Given the description of an element on the screen output the (x, y) to click on. 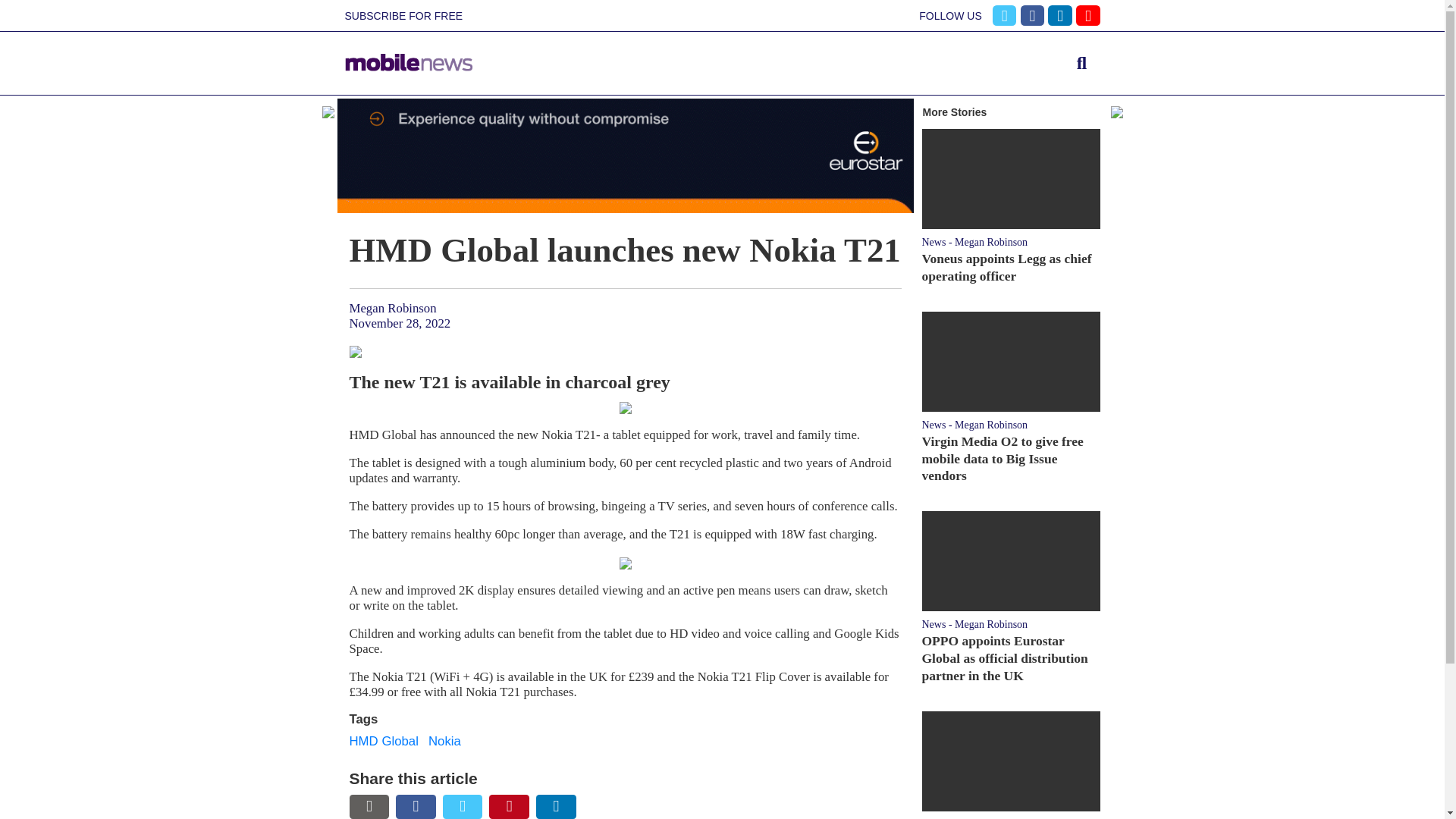
HMD Global (383, 740)
SUBSCRIBE FOR FREE (403, 15)
Nokia (444, 740)
